Given the description of an element on the screen output the (x, y) to click on. 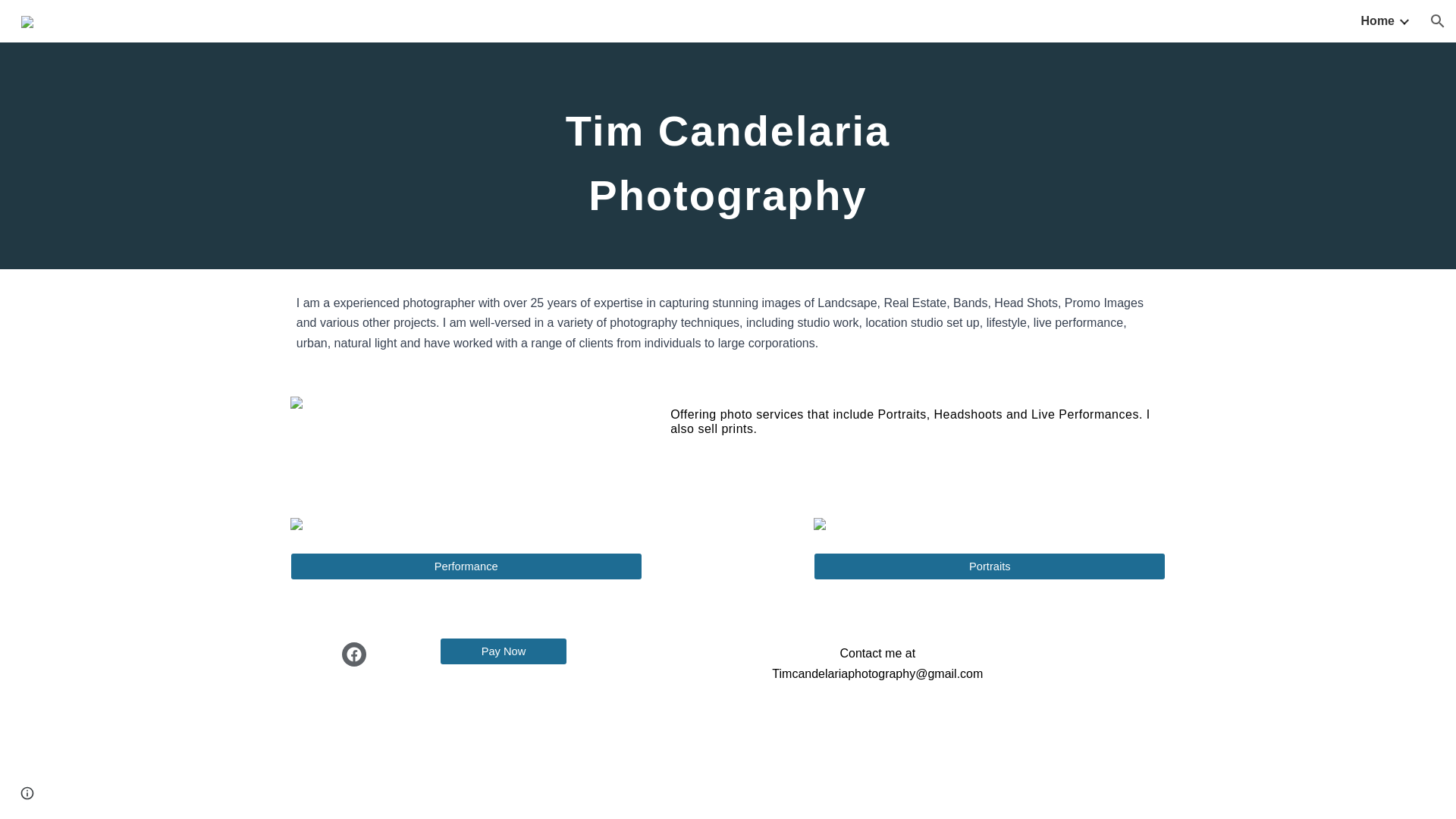
Performance (466, 565)
Home (1377, 20)
Pay Now (503, 650)
Portraits (988, 565)
